Given the description of an element on the screen output the (x, y) to click on. 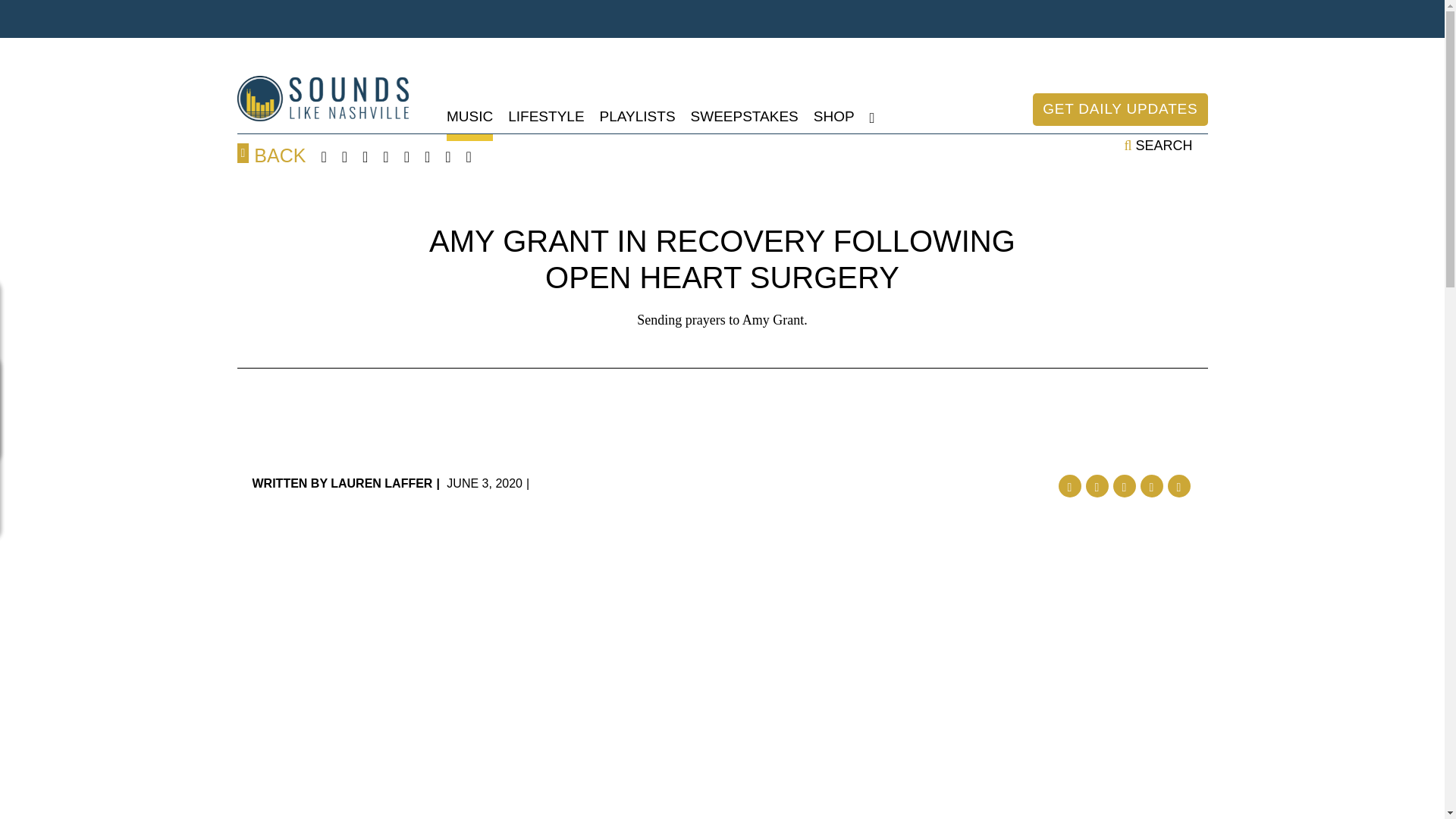
BACK (270, 154)
LIFESTYLE (545, 117)
SWEEPSTAKES (743, 117)
GET DAILY UPDATES (1119, 109)
MUSIC (469, 117)
SHOP (833, 117)
More by this author (341, 482)
Advertisement (721, 425)
PLAYLISTS (637, 117)
Sounds Like Nashville (322, 98)
